Given the description of an element on the screen output the (x, y) to click on. 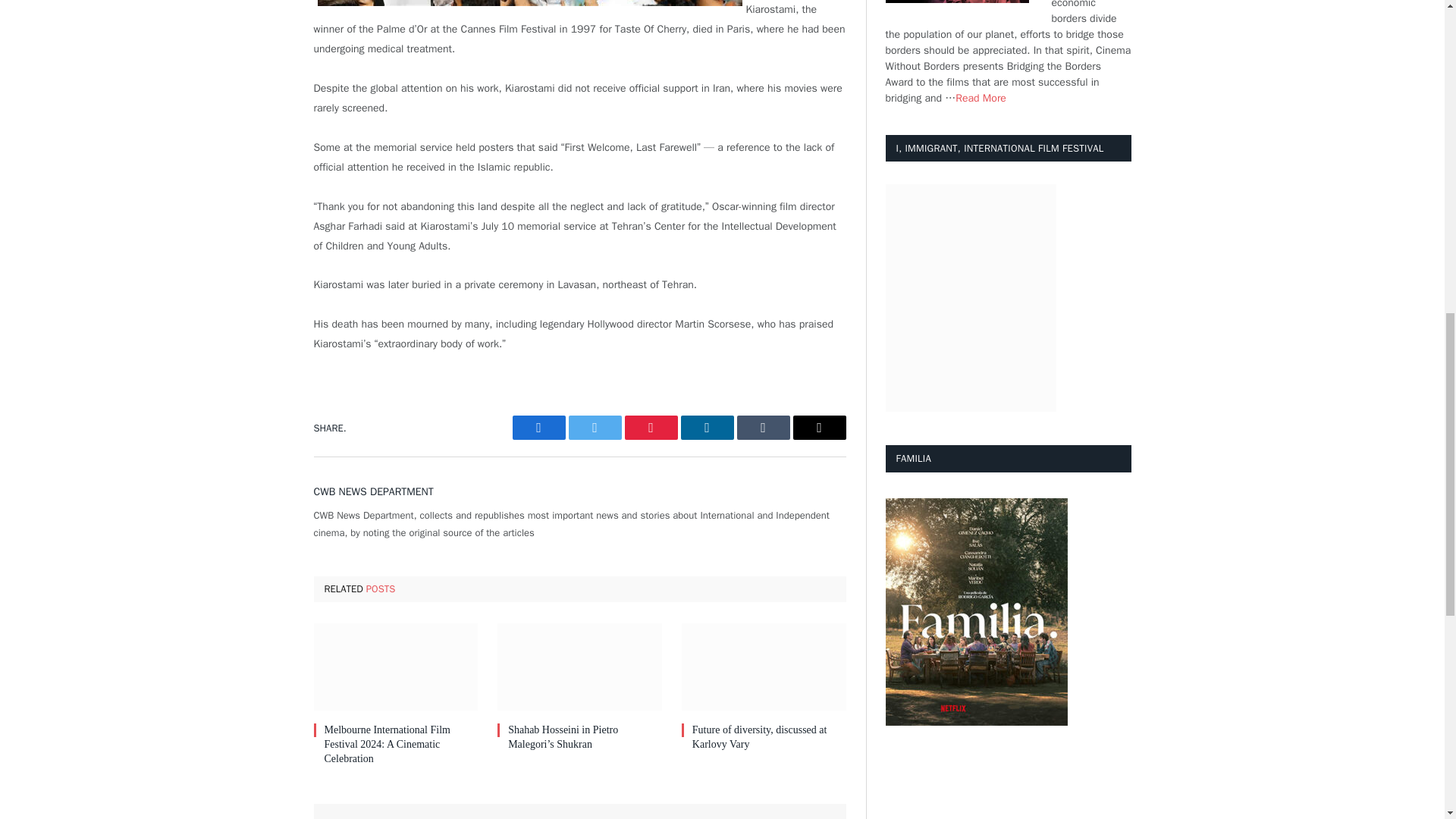
Share on Facebook (539, 427)
Share on LinkedIn (707, 427)
Share via Email (819, 427)
Twitter (595, 427)
Share on Pinterest (651, 427)
Facebook (539, 427)
Posts by CWB News Department (373, 491)
Share on Tumblr (763, 427)
